Given the description of an element on the screen output the (x, y) to click on. 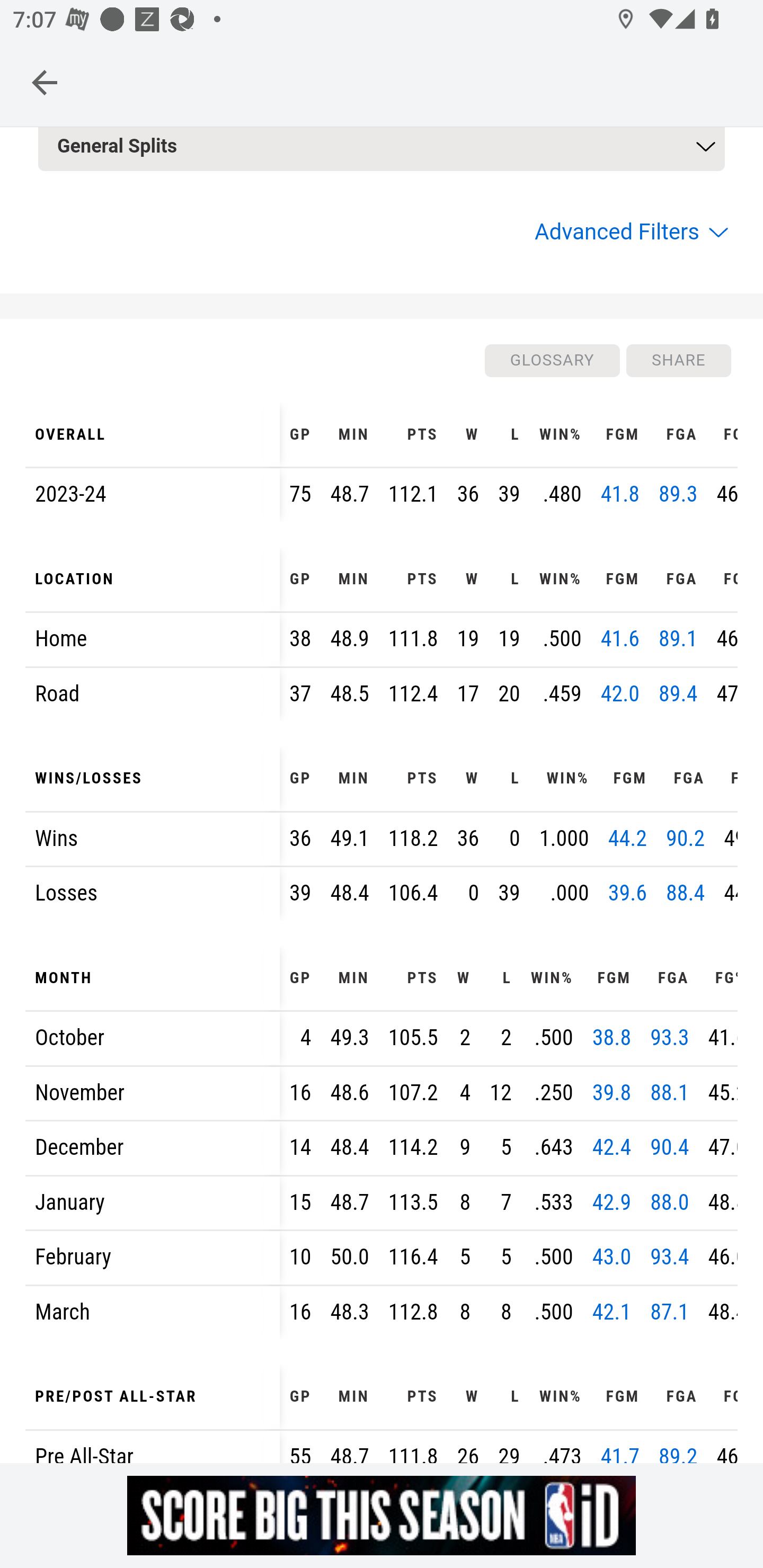
Navigate up (44, 82)
General Splits (381, 148)
Advanced Filters (629, 231)
GLOSSARY (550, 360)
SHARE (677, 360)
OVERALL (152, 434)
GP (300, 434)
MIN (349, 434)
PTS (413, 434)
W (467, 434)
L (509, 434)
WIN% (560, 434)
FGM (619, 434)
FGA (677, 434)
41.8 (619, 494)
89.3 (677, 494)
LOCATION (152, 580)
GP (300, 580)
MIN (349, 580)
PTS (413, 580)
W (467, 580)
L (509, 580)
WIN% (560, 580)
FGM (619, 580)
FGA (677, 580)
41.6 (619, 639)
89.1 (677, 639)
42.0 (619, 693)
89.4 (677, 693)
WINS/LOSSES (152, 778)
GP (300, 778)
MIN (349, 778)
PTS (413, 778)
W (467, 778)
L (509, 778)
WIN% (563, 778)
FGM (626, 778)
FGA (685, 778)
44.2 (627, 837)
90.2 (685, 837)
39.6 (627, 893)
88.4 (685, 893)
MONTH (152, 978)
GP (300, 978)
MIN (349, 978)
PTS (413, 978)
W (463, 978)
L (500, 978)
WIN% (551, 978)
FGM (611, 978)
FGA (669, 978)
FG% (717, 978)
38.8 (611, 1038)
93.3 (669, 1038)
39.8 (611, 1091)
88.1 (669, 1091)
42.4 (611, 1148)
90.4 (669, 1148)
42.9 (611, 1201)
88.0 (669, 1201)
43.0 (611, 1257)
93.4 (669, 1257)
42.1 (611, 1311)
87.1 (669, 1311)
PRE/POST ALL-STAR (152, 1397)
GP (300, 1397)
MIN (349, 1397)
PTS (413, 1397)
W (467, 1397)
L (509, 1397)
WIN% (560, 1397)
FGM (619, 1397)
FGA (677, 1397)
41.7 (619, 1452)
89.2 (677, 1452)
g5nqqygr7owph (381, 1515)
